Given the description of an element on the screen output the (x, y) to click on. 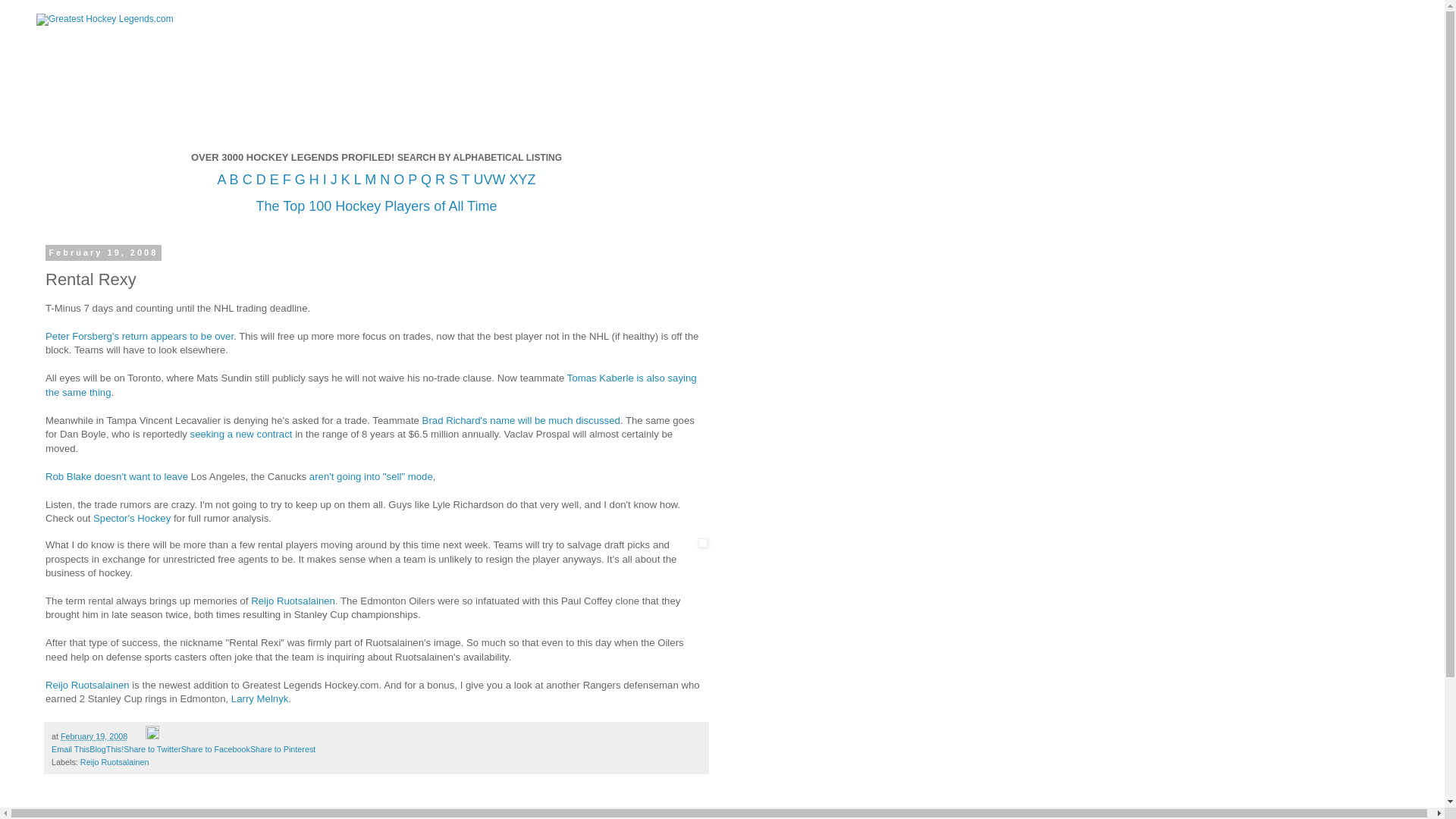
XYZ (521, 179)
Rob Blake doesn't want to leave (116, 483)
Brad Richard's name will be much discussed (521, 419)
Share to Twitter (151, 748)
Email This (69, 748)
Email This (69, 748)
Edit Post (151, 736)
The Top 100 Hockey Players of All Time (376, 207)
February 19, 2008 (94, 736)
Tomas Kaberle is also saying the same thing (371, 384)
seeking a new contract (241, 433)
permanent link (94, 736)
Reijo Ruotsalainen (87, 685)
Share to Pinterest (282, 748)
UVW (489, 179)
